Given the description of an element on the screen output the (x, y) to click on. 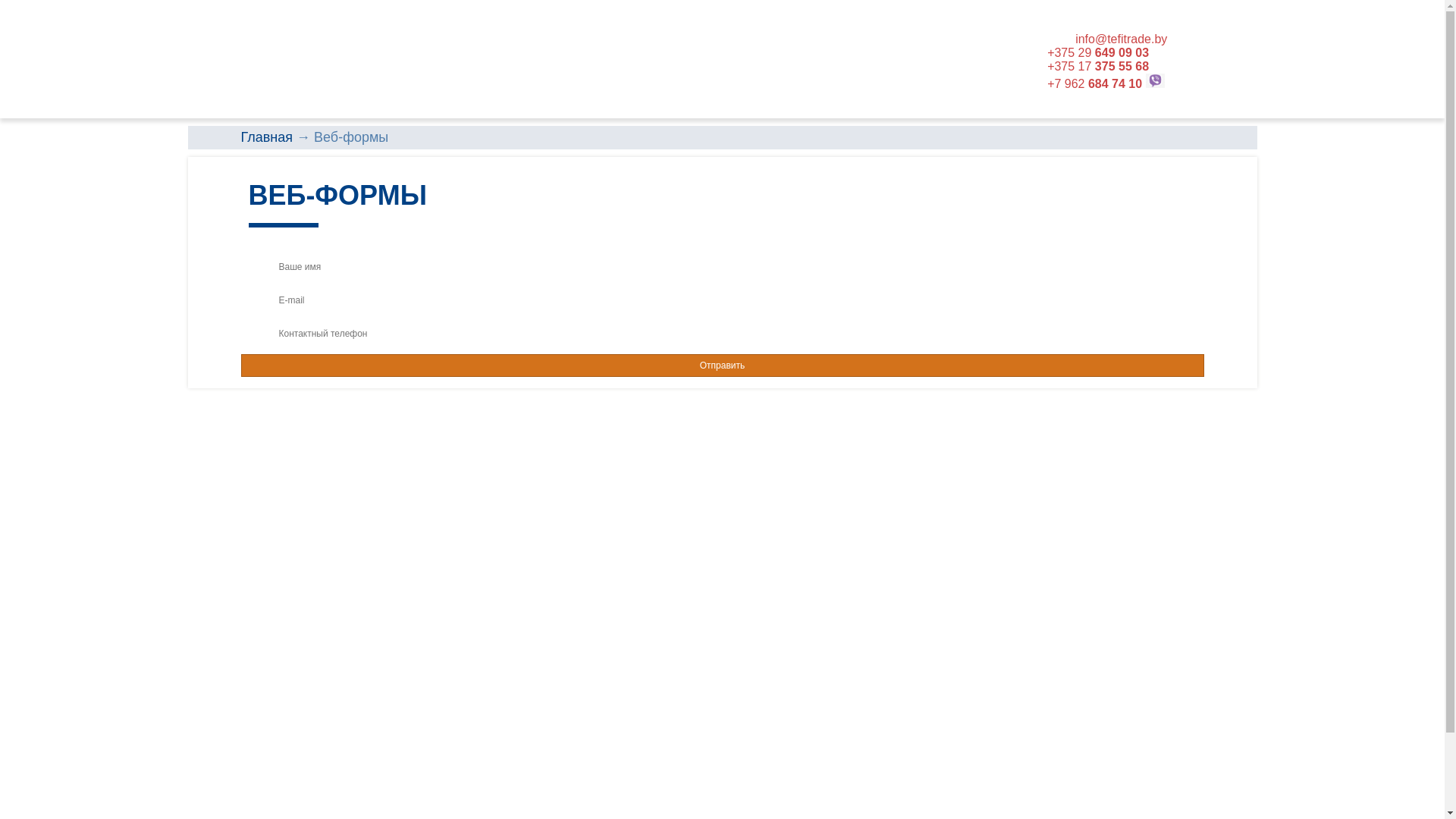
+7 962 684 74 10 Element type: text (1094, 83)
+375 29 649 09 03 Element type: text (1097, 52)
E-mail Element type: hover (722, 300)
info@tefitrade.by Element type: text (1121, 38)
+375 17 375 55 68 Element type: text (1097, 65)
